Given the description of an element on the screen output the (x, y) to click on. 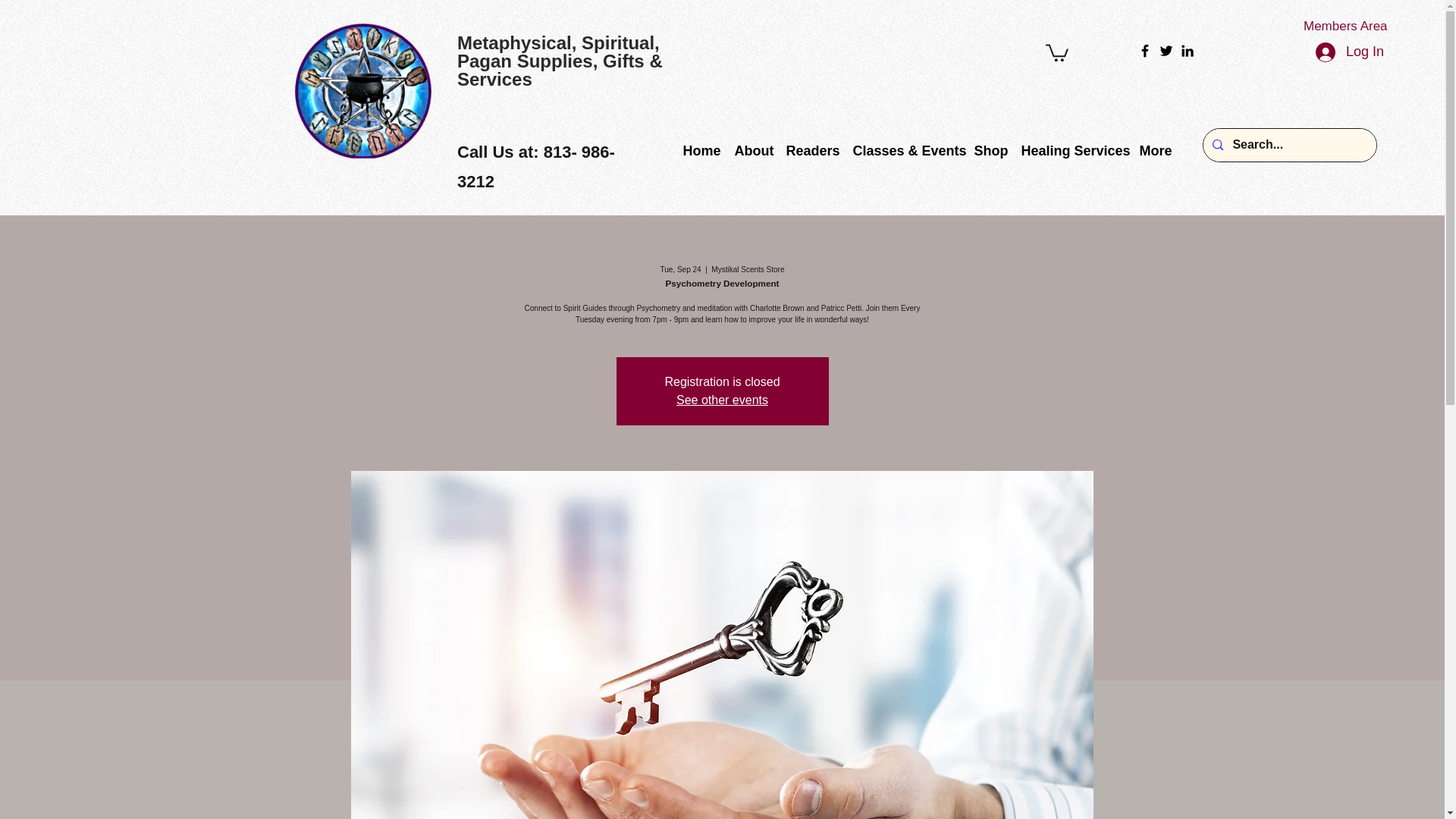
Healing Services (1072, 149)
Readers (810, 149)
About (751, 149)
Home (700, 149)
Shop (989, 149)
Log In (1349, 52)
See other events (722, 399)
